Given the description of an element on the screen output the (x, y) to click on. 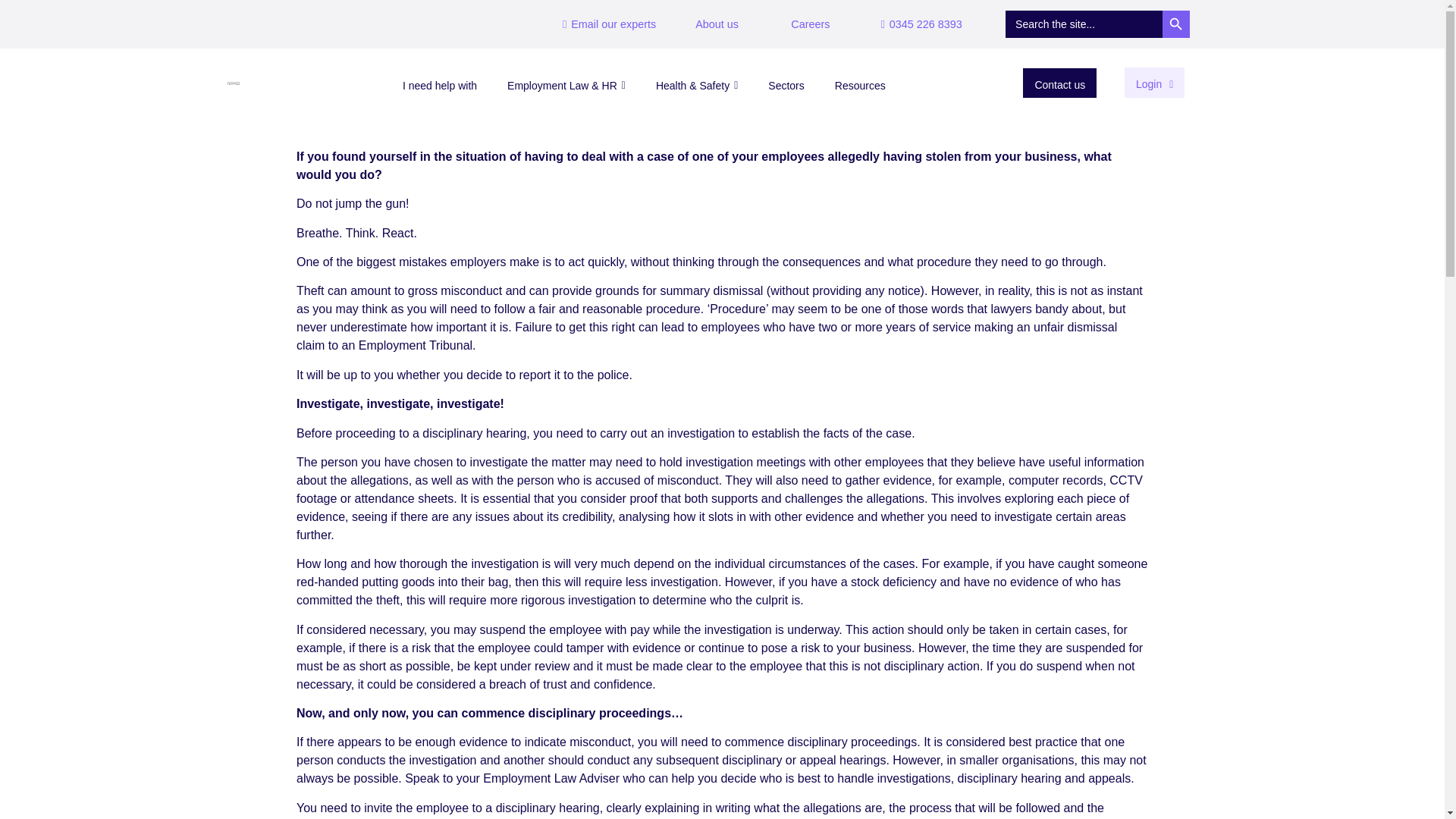
About us (716, 23)
0345 226 8393 (920, 23)
Email our experts (609, 23)
Careers (809, 23)
Search Button (1175, 23)
